Given the description of an element on the screen output the (x, y) to click on. 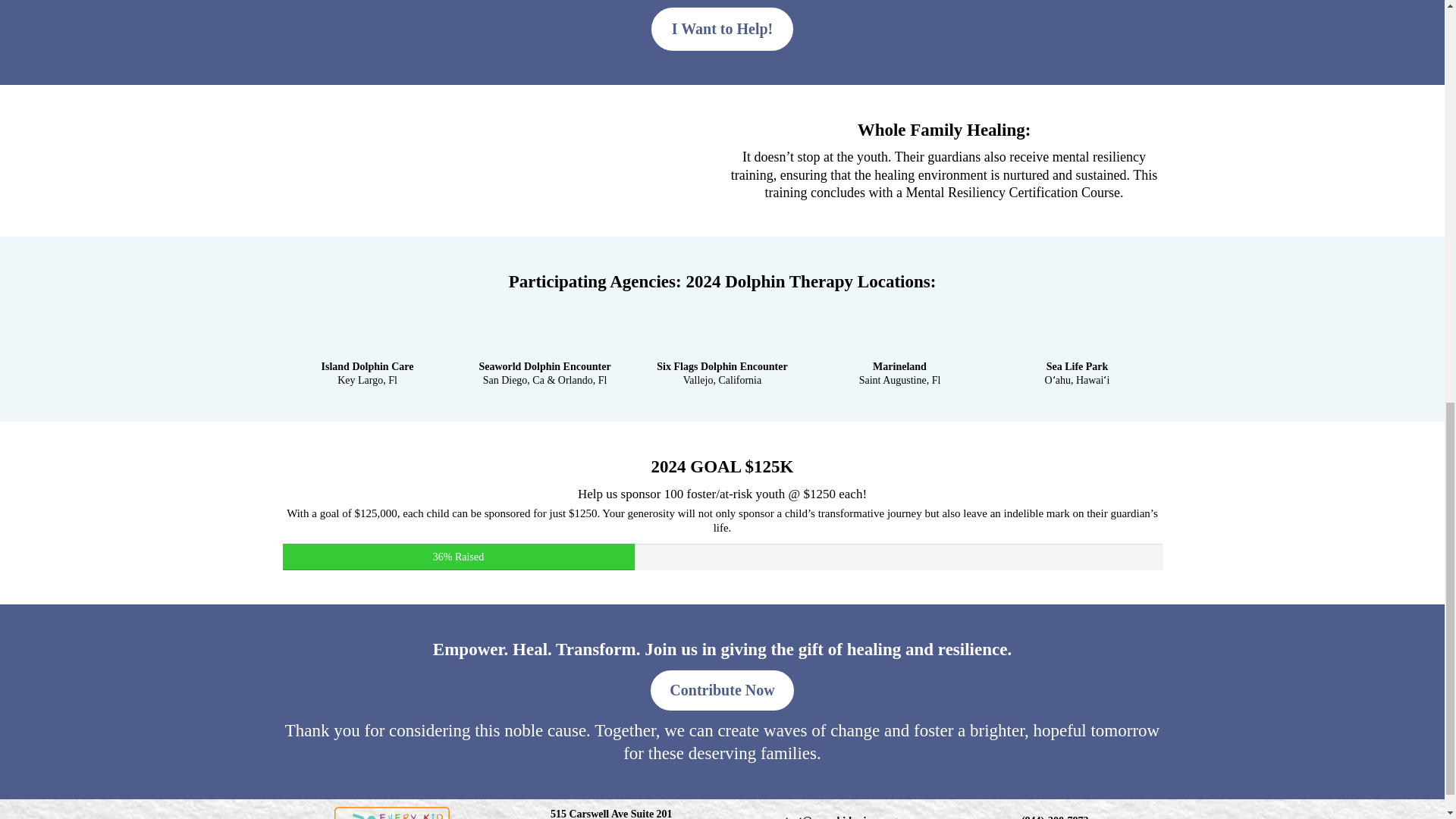
Contribute Now (721, 690)
I Want to Help! (721, 28)
